Given the description of an element on the screen output the (x, y) to click on. 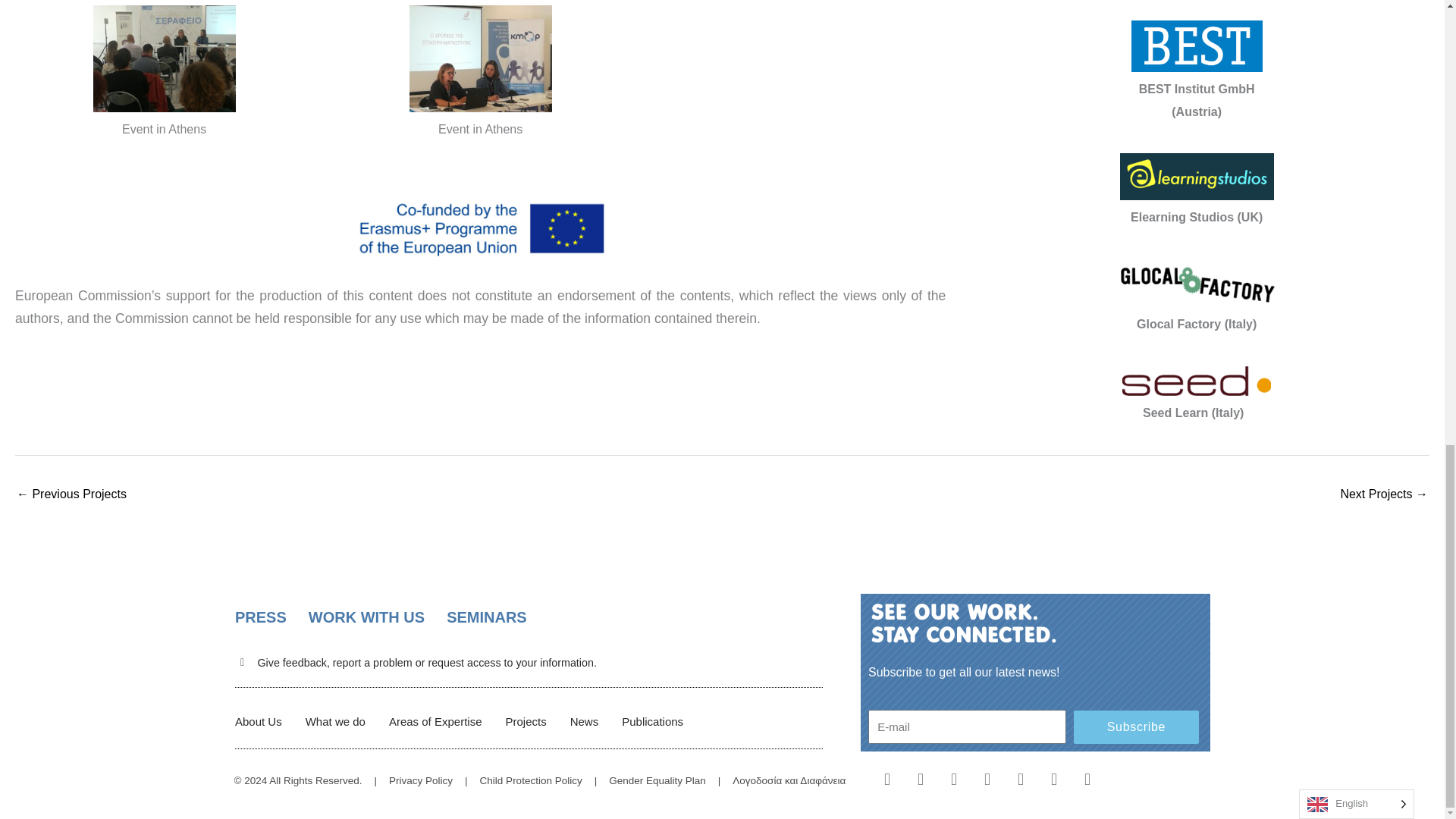
TRAINVOL (1383, 495)
PRESS (260, 617)
SEMINARS (486, 617)
nl-31 (962, 623)
BeOld (71, 495)
WORK WITH US (366, 617)
